Given the description of an element on the screen output the (x, y) to click on. 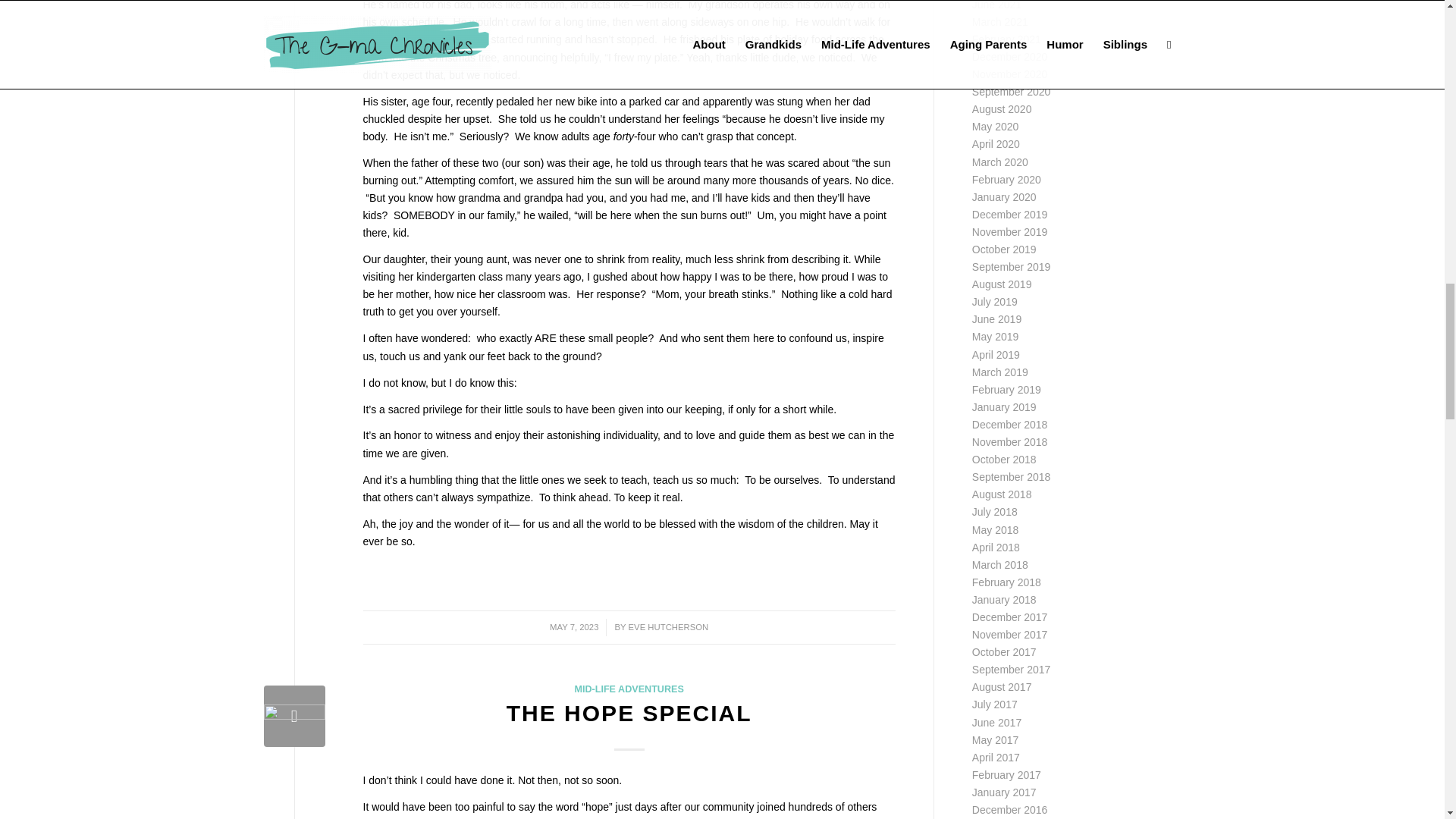
EVE HUTCHERSON (668, 626)
Posts by Eve Hutcherson (668, 626)
MID-LIFE ADVENTURES (627, 688)
THE HOPE SPECIAL (629, 713)
Permanent Link: The HOPE Special (629, 713)
